Given the description of an element on the screen output the (x, y) to click on. 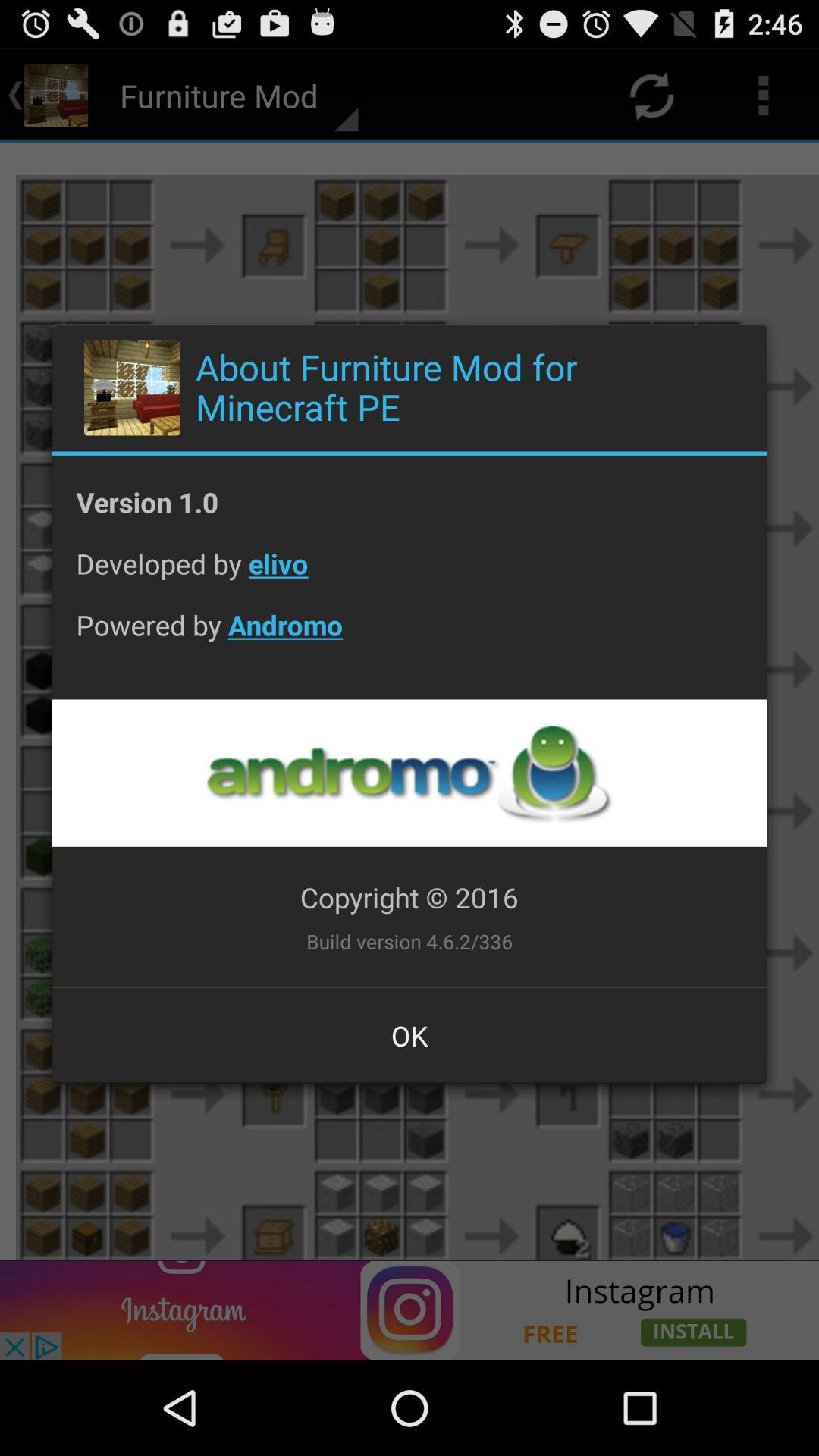
launch the app below powered by andromo app (408, 772)
